Given the description of an element on the screen output the (x, y) to click on. 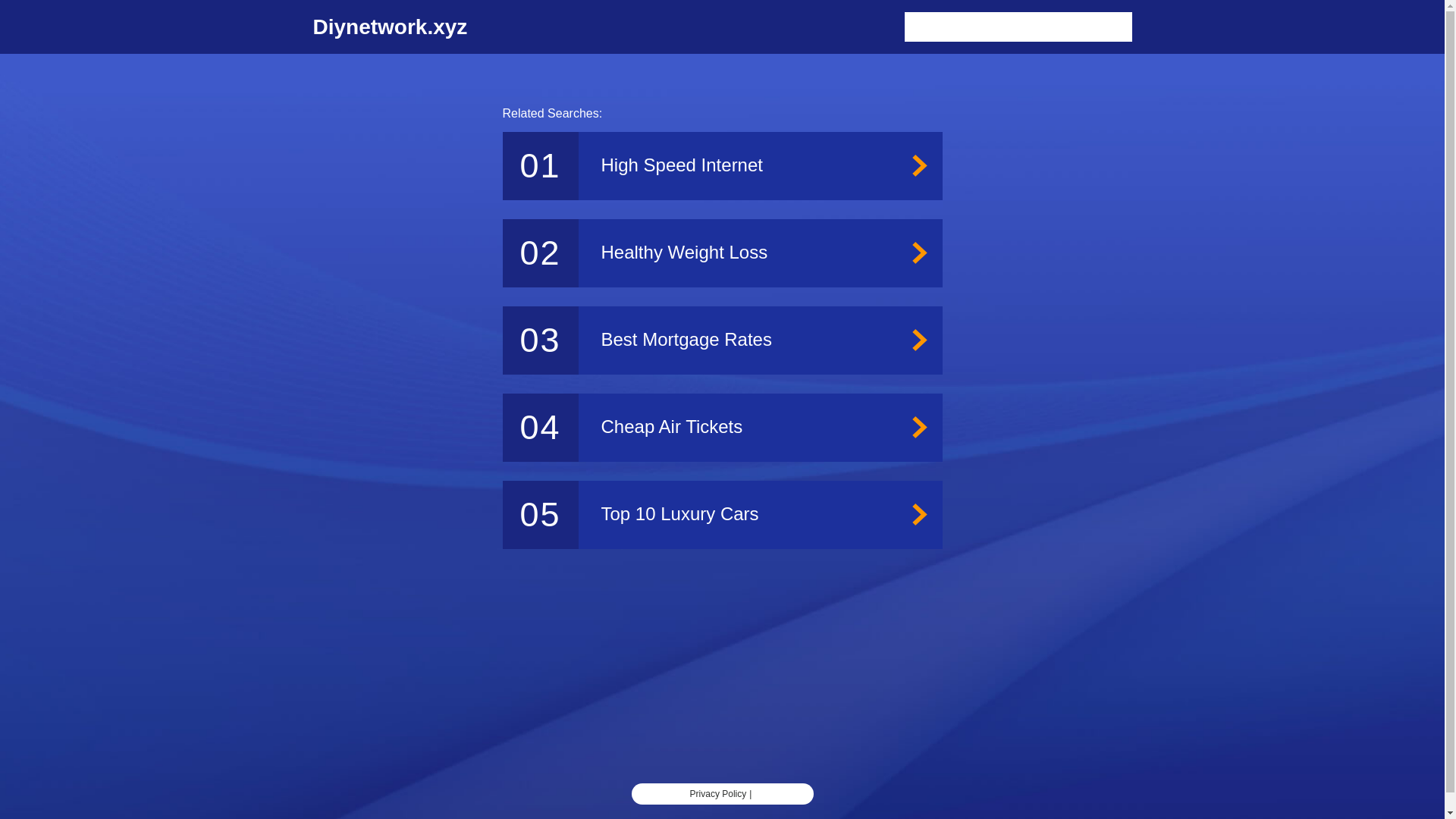
Best Mortgage Rates (722, 340)
High Speed Internet (722, 165)
Diynetwork.xyz (390, 27)
Best Mortgage Rates (722, 340)
Top 10 Luxury Cars (722, 514)
Healthy Weight Loss (722, 253)
Cheap Air Tickets (722, 427)
Privacy Policy (718, 793)
Top 10 Luxury Cars (722, 514)
Healthy Weight Loss (722, 253)
